Given the description of an element on the screen output the (x, y) to click on. 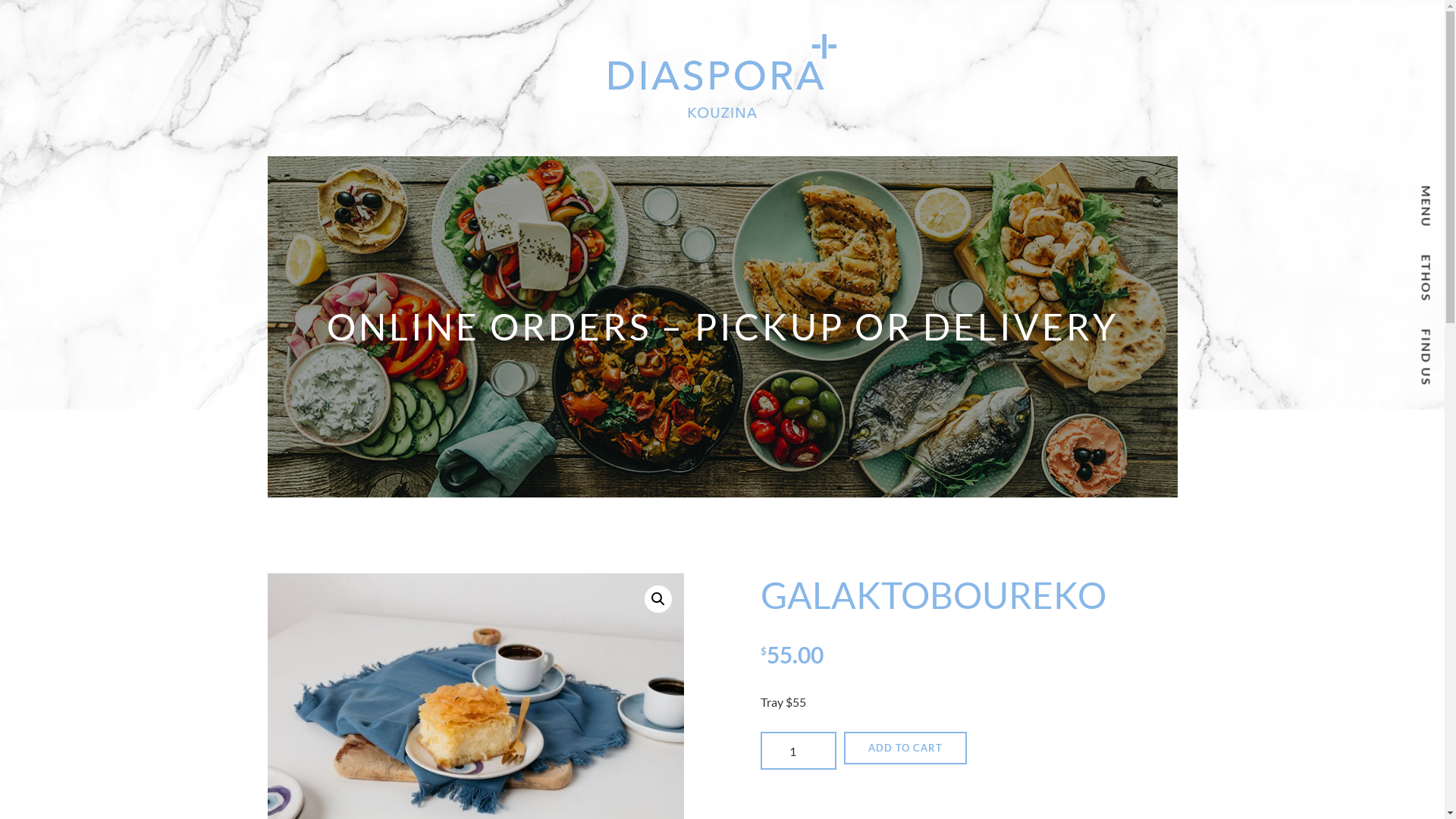
ETHOS Element type: text (1431, 272)
ADD TO CART Element type: text (905, 747)
MENU Element type: text (1428, 203)
Qty Element type: hover (798, 750)
